Given the description of an element on the screen output the (x, y) to click on. 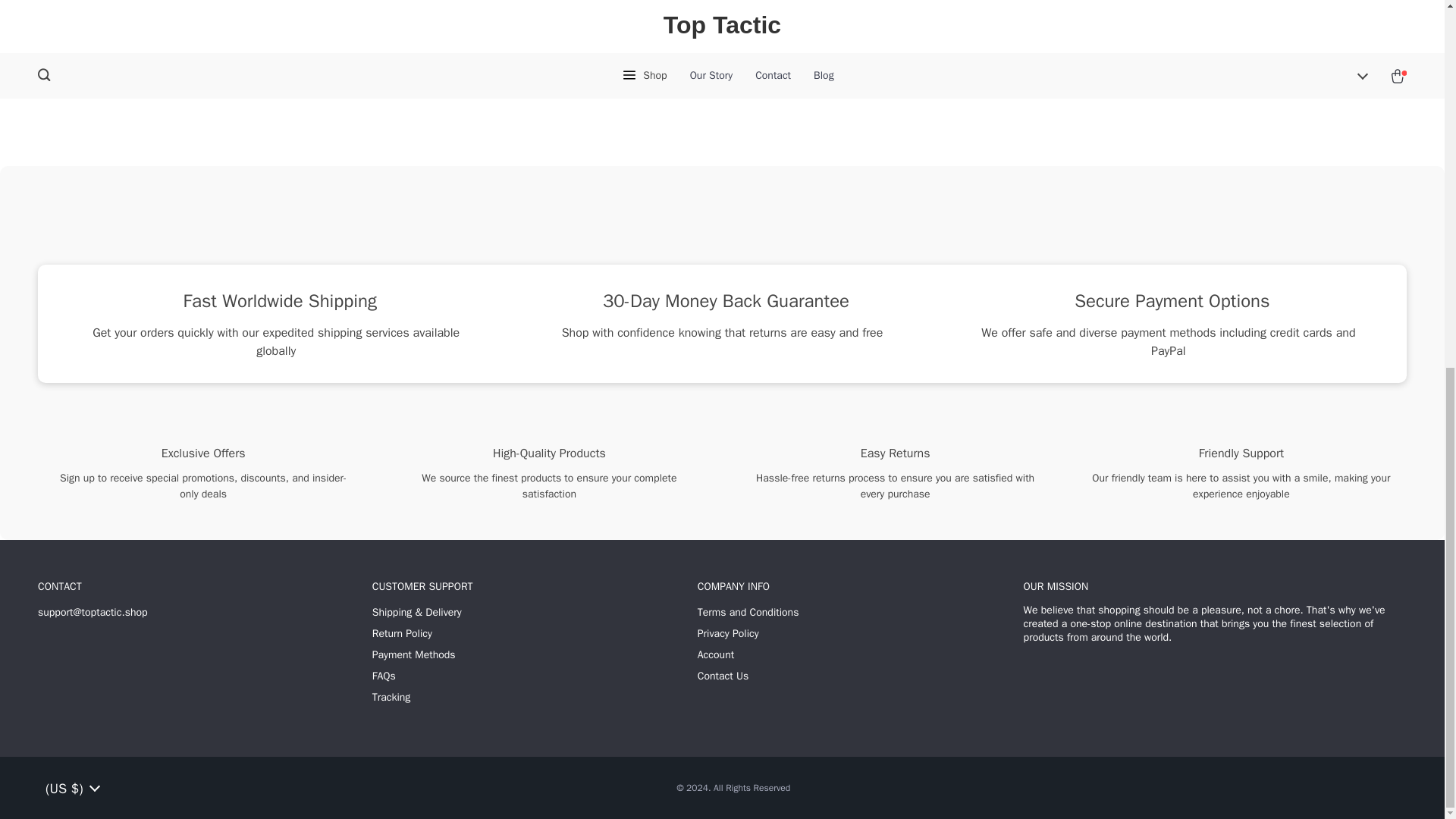
Account (715, 654)
Payment Methods (413, 654)
Contact Us (722, 676)
Tracking (391, 697)
Return Policy (402, 633)
FAQs (384, 676)
Terms and Conditions (748, 612)
Privacy Policy (727, 633)
